Given the description of an element on the screen output the (x, y) to click on. 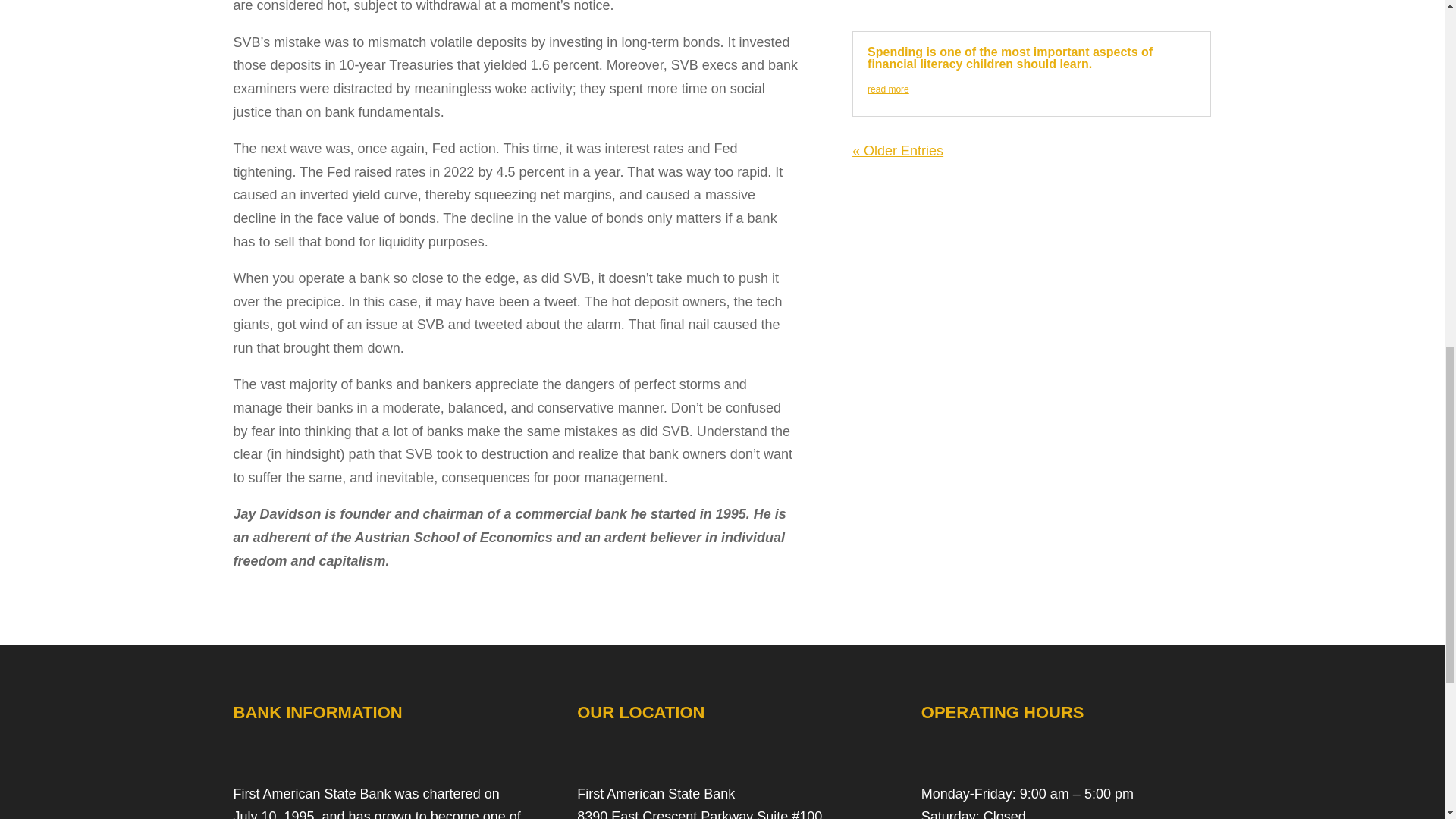
read more (887, 89)
